Given the description of an element on the screen output the (x, y) to click on. 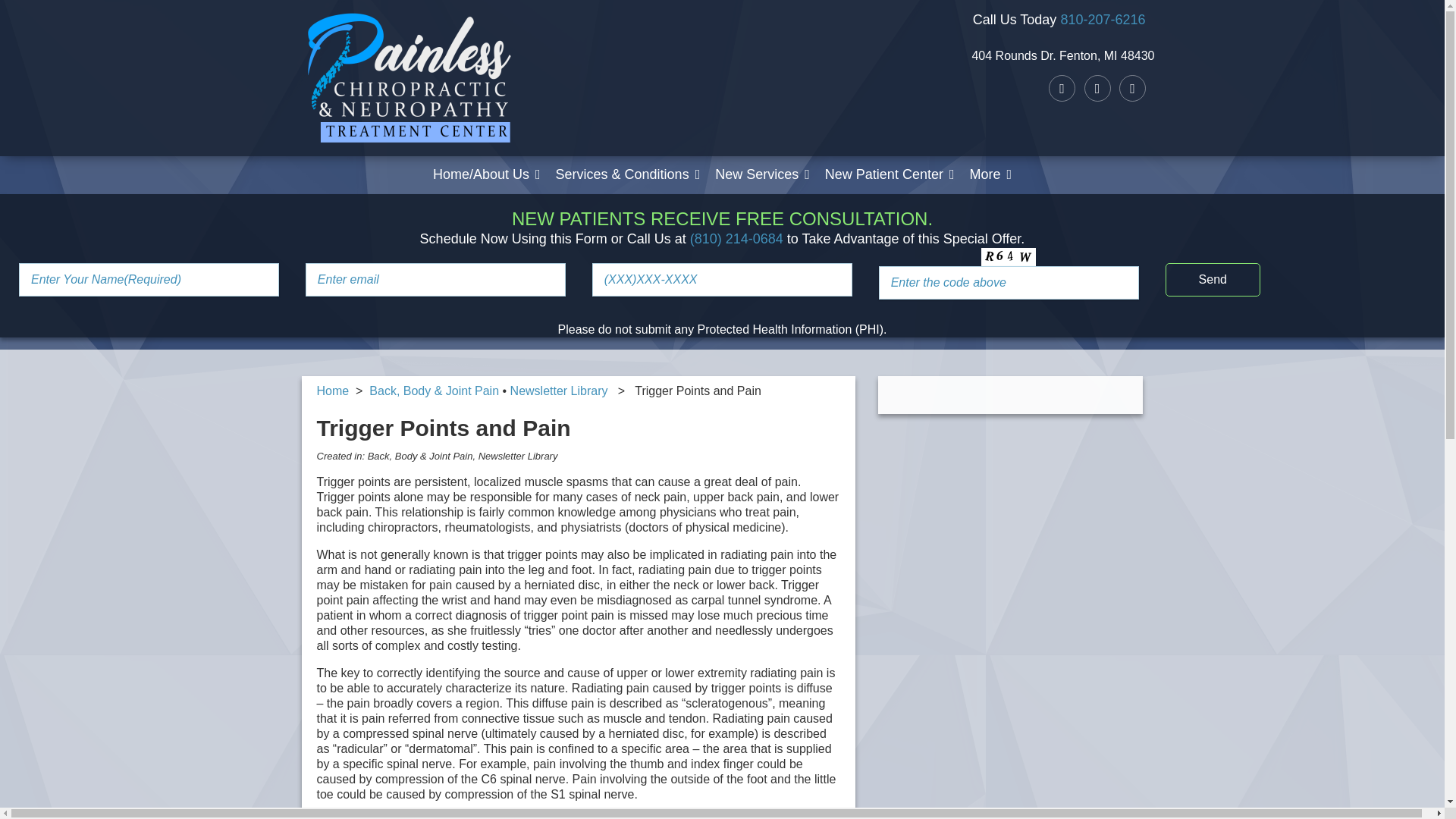
Painless Chiropractic and Neuropathy Treatment Center (402, 136)
Home (486, 175)
Send (1213, 279)
Facebook (1132, 88)
About Us (481, 181)
Youtube (1097, 88)
Instagram (1061, 88)
